Given the description of an element on the screen output the (x, y) to click on. 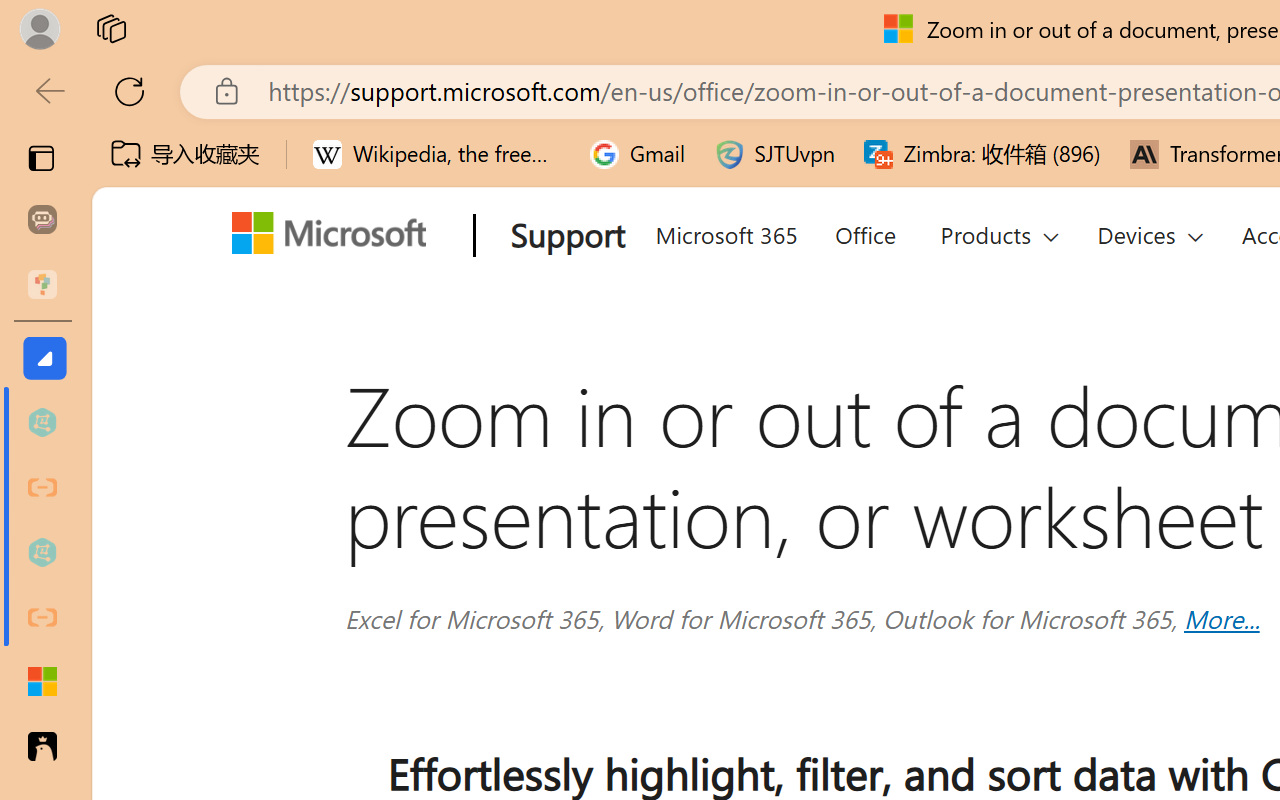
Office (864, 232)
Office (864, 231)
Microsoft 365 (725, 231)
Gmail (637, 154)
Microsoft 365 (725, 232)
